Given the description of an element on the screen output the (x, y) to click on. 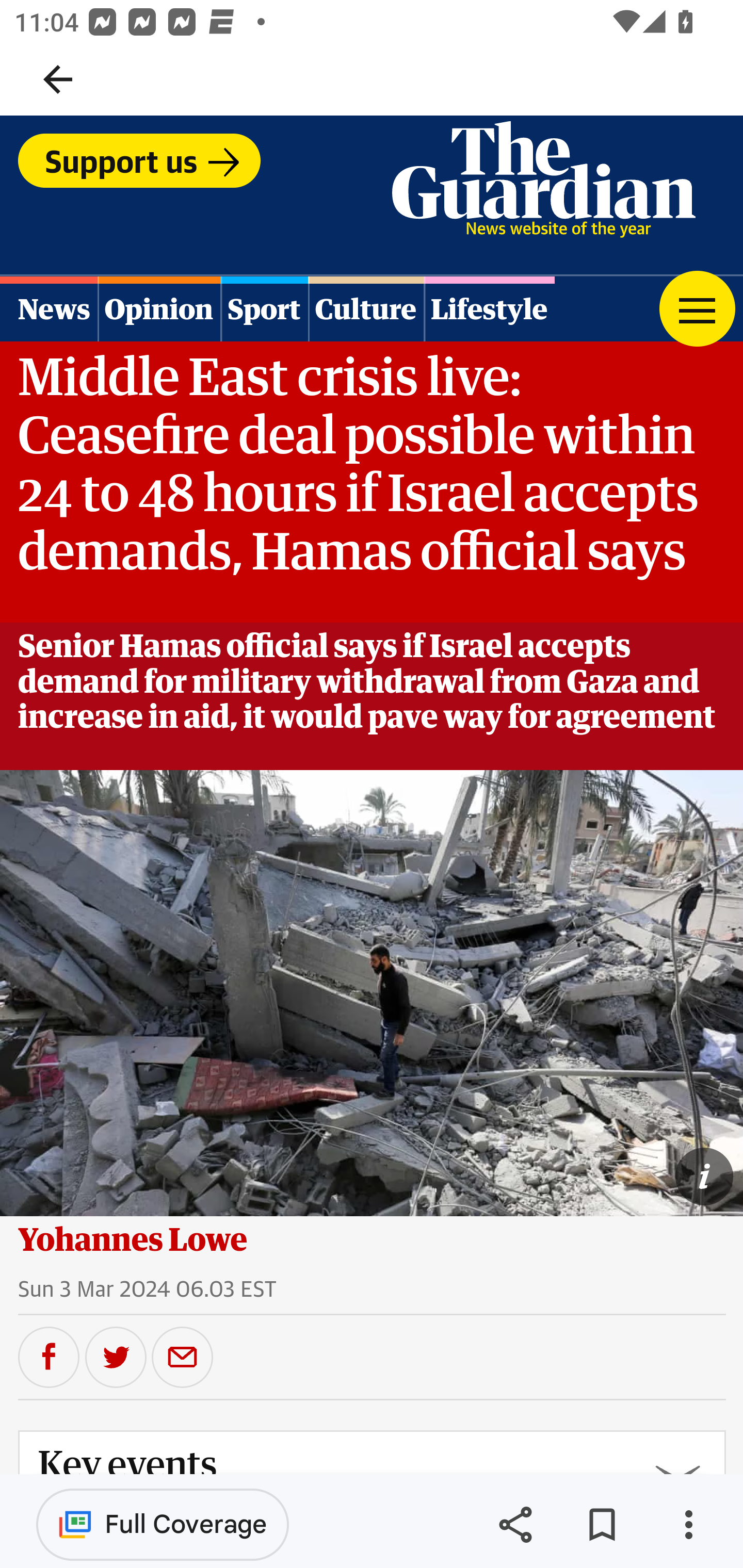
Navigate up (57, 79)
Support us (138, 159)
Toggle main menu (697, 308)
News (49, 308)
Opinion (158, 308)
Sport (264, 308)
Culture (365, 308)
Lifestyle (489, 308)
Yohannes Lowe (132, 1239)
Share on Facebook (48, 1355)
Share on Twitter (115, 1355)
Share via Email (182, 1355)
Share (514, 1524)
Save for later (601, 1524)
More options (688, 1524)
Full Coverage (162, 1524)
